Given the description of an element on the screen output the (x, y) to click on. 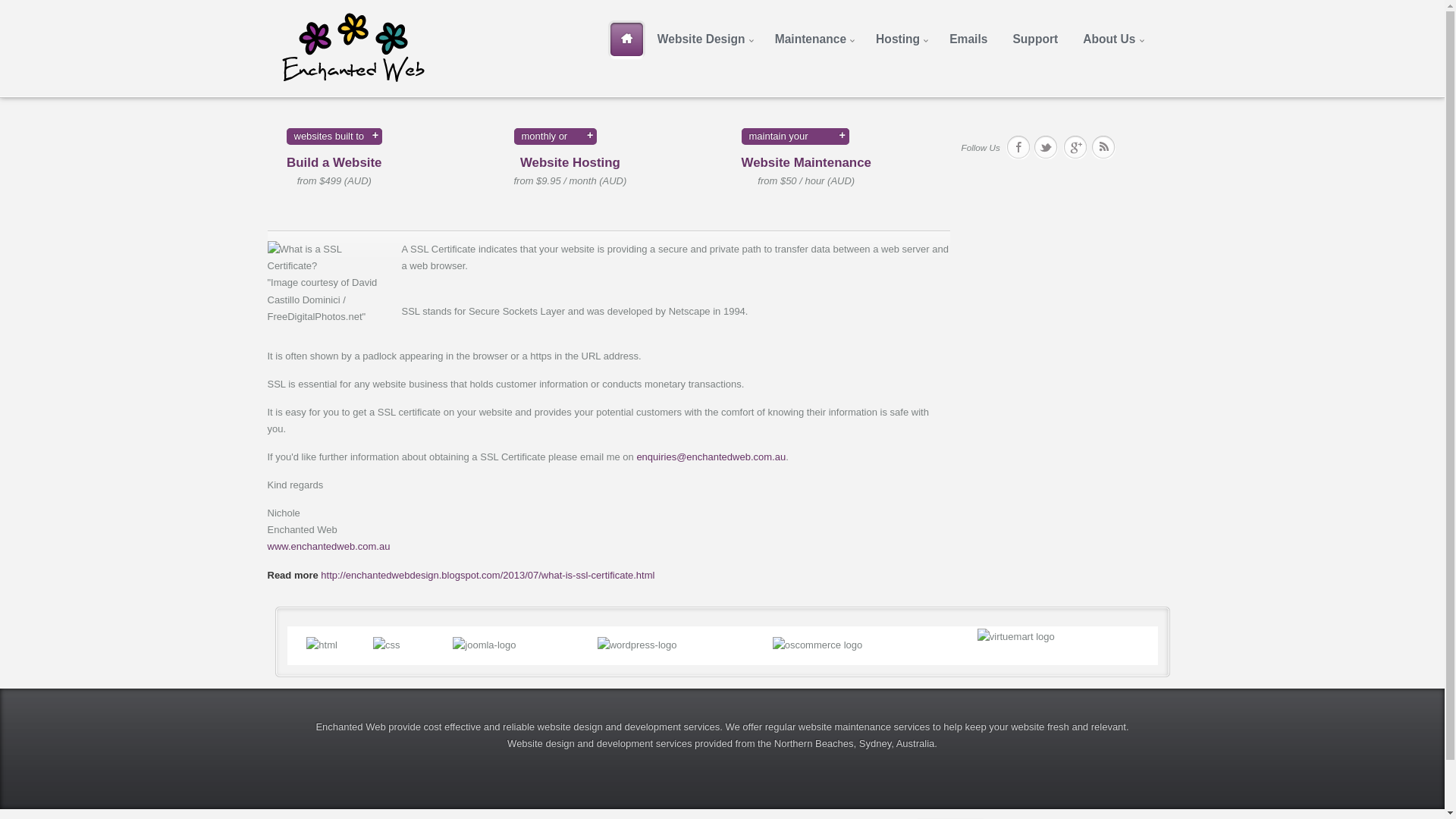
Website Hosting Element type: text (570, 162)
Support Element type: text (1034, 39)
About Us Element type: text (1111, 39)
Website Design Element type: text (703, 39)
Website Maintenance Element type: text (806, 162)
www.enchantedweb.com.au Element type: text (327, 546)
enquiries@enchantedweb.com.au Element type: text (710, 456)
Build a Website Element type: text (333, 162)
Hosting Element type: text (900, 39)
Maintenance Element type: text (812, 39)
Emails Element type: text (967, 39)
